Given the description of an element on the screen output the (x, y) to click on. 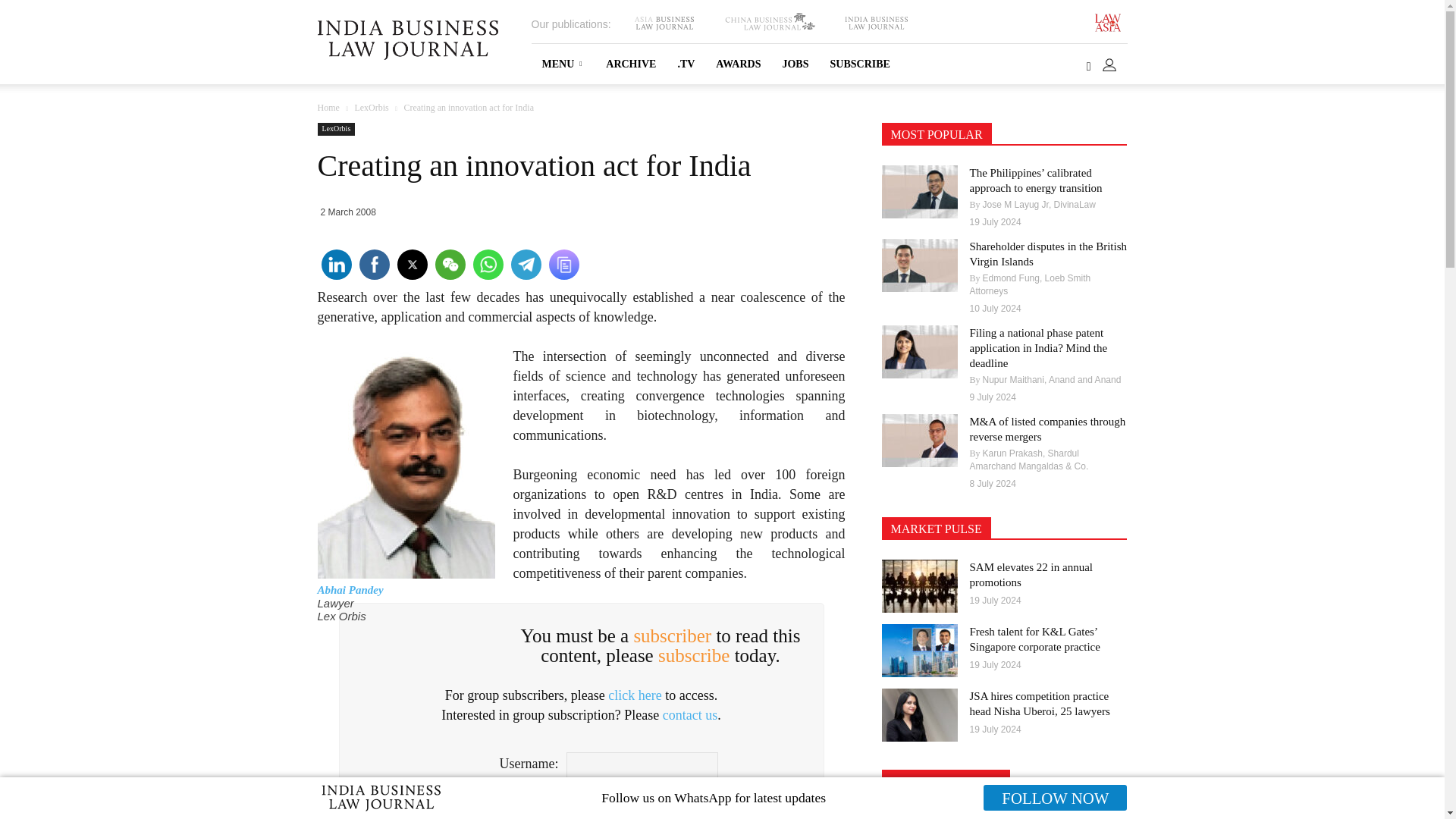
Whatsapp (487, 264)
ABLJ (664, 23)
View all posts in LexOrbis (370, 107)
LinkedIn (335, 264)
Copy link (563, 264)
Twitter (411, 264)
Telegram (525, 264)
CBLJ (769, 23)
IBLJ (875, 23)
MENU (563, 64)
Facebook (373, 264)
